Given the description of an element on the screen output the (x, y) to click on. 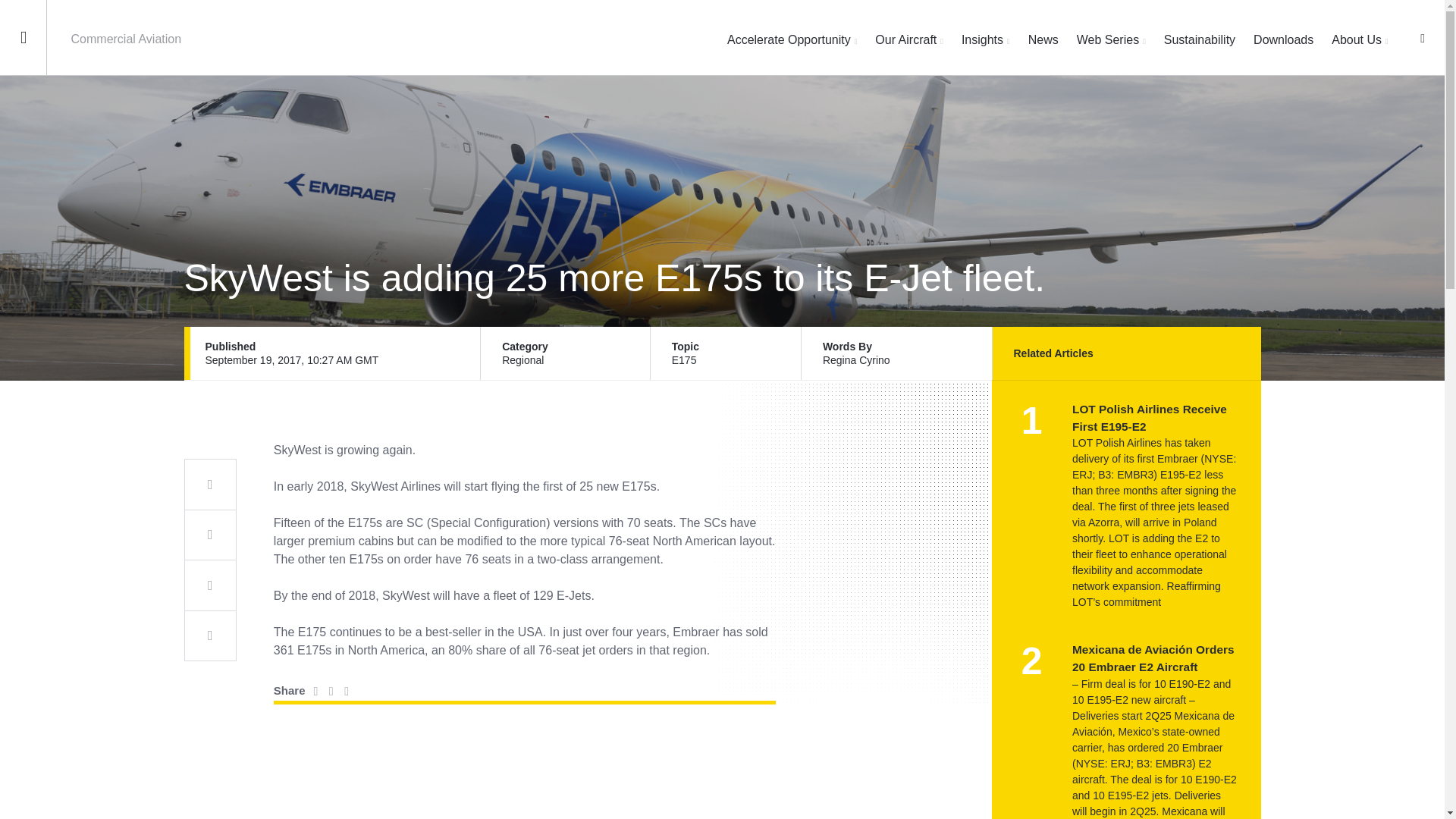
Accelerate Opportunity (791, 38)
Sustainability (1198, 38)
Our Aircraft (909, 38)
Web Series (1111, 38)
